Given the description of an element on the screen output the (x, y) to click on. 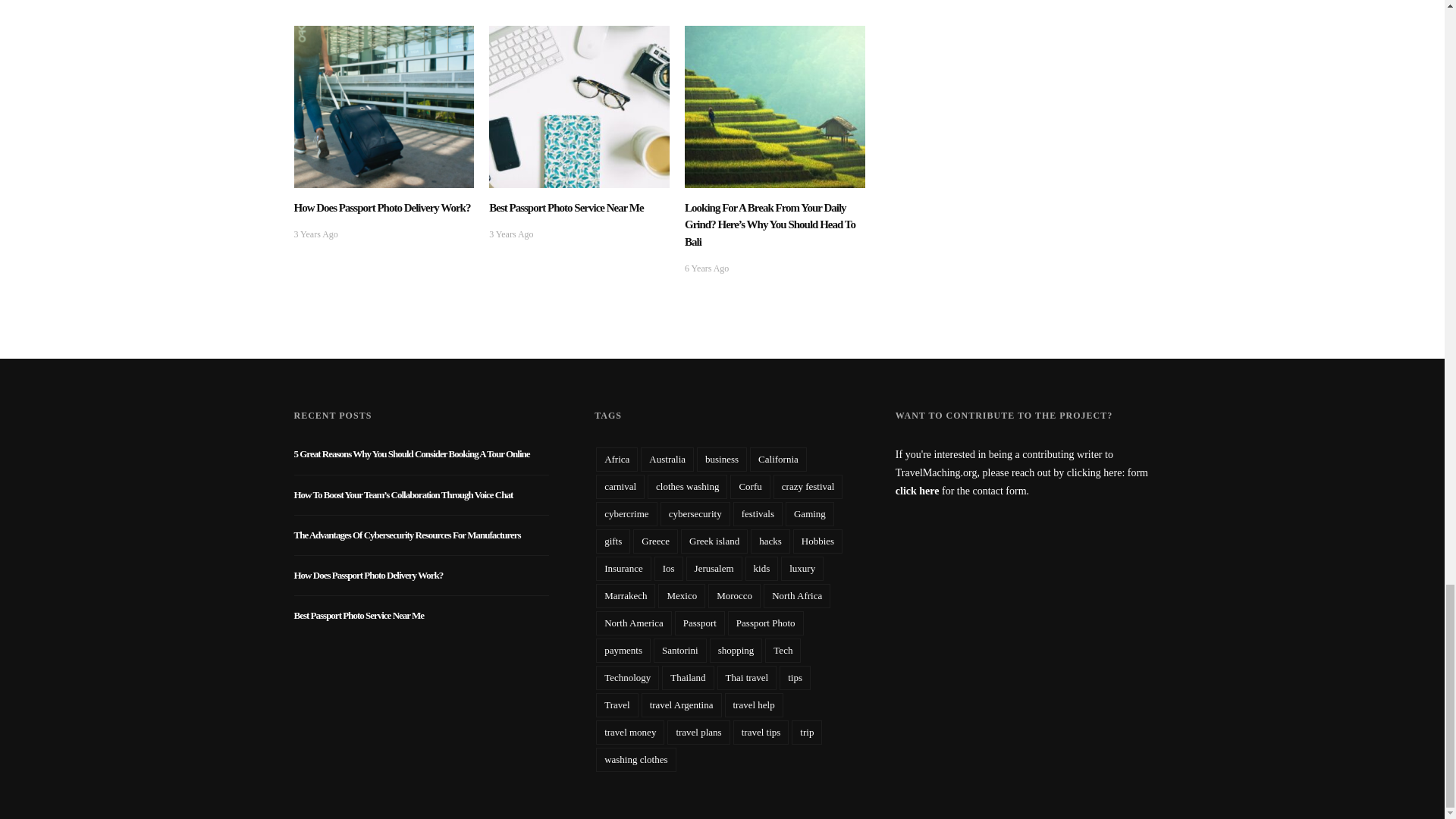
Best Passport Photo Service Near Me (579, 105)
Best Passport Photo Service Near Me (566, 207)
How Does Passport Photo Delivery Work? (384, 105)
How Does Passport Photo Delivery Work? (382, 207)
